Given the description of an element on the screen output the (x, y) to click on. 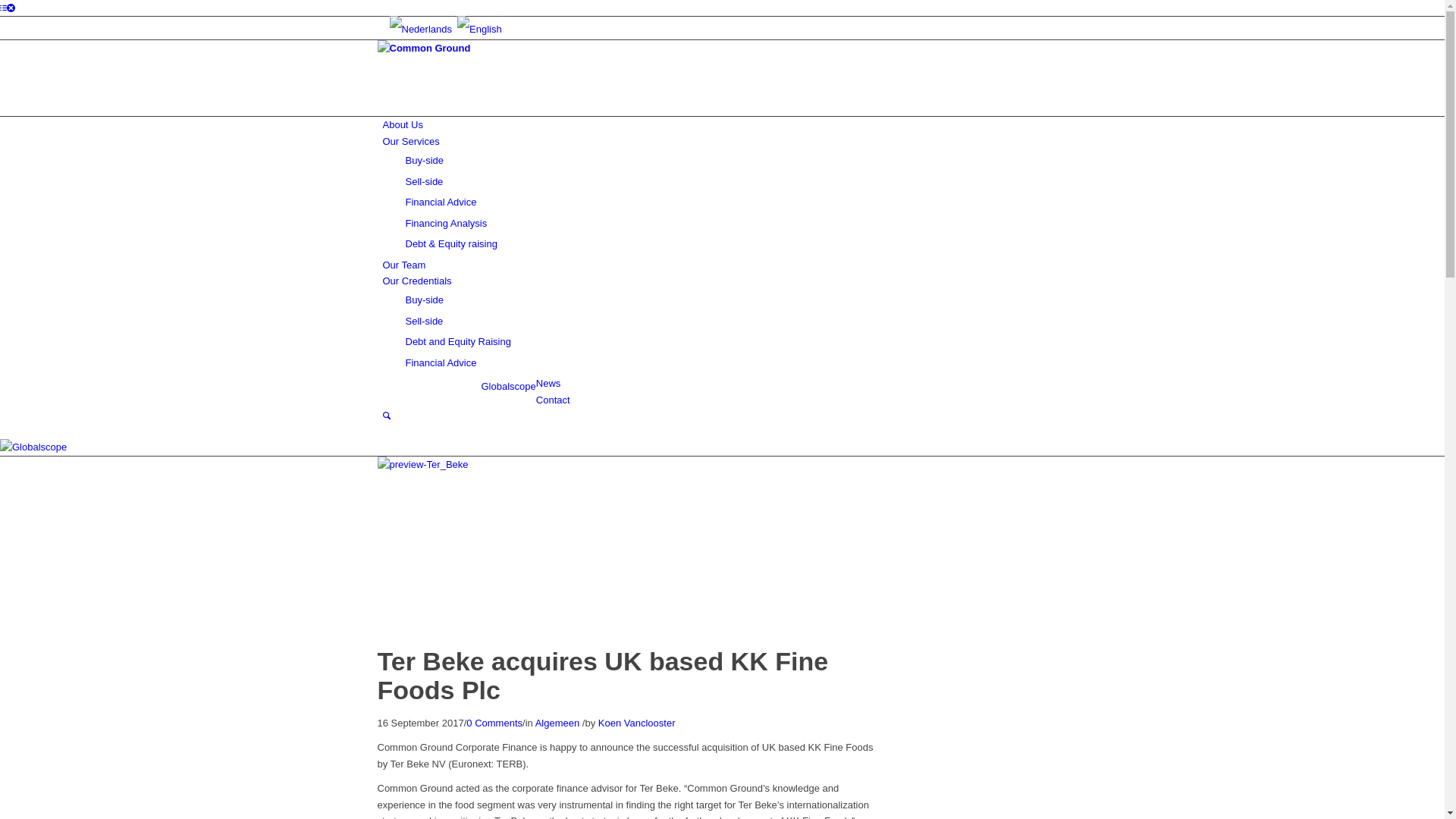
Algemeen Element type: text (557, 722)
Financial Advice Element type: text (440, 362)
Financial Advice Element type: text (440, 201)
Ter Beke acquires UK based KK Fine Foods Plc Element type: text (602, 674)
Buy-side Element type: text (423, 299)
Our Team Element type: text (403, 264)
Our Services Element type: text (410, 141)
Globalscope Element type: text (507, 386)
English Element type: hover (479, 29)
About Us Element type: text (402, 124)
Our Credentials Element type: text (416, 280)
Sell-side Element type: text (423, 320)
News Element type: text (548, 383)
Buy-side Element type: text (423, 160)
Ter Beke acquires UK based KK Fine Foods Plc Element type: hover (629, 464)
Nederlands Element type: hover (420, 29)
Financing Analysis Element type: text (445, 223)
0 Comments Element type: text (494, 722)
Debt and Equity Raising Element type: text (457, 341)
Koen Vanclooster Element type: text (636, 722)
Sell-side Element type: text (423, 181)
Contact Element type: text (553, 399)
Debt & Equity raising Element type: text (450, 243)
